Given the description of an element on the screen output the (x, y) to click on. 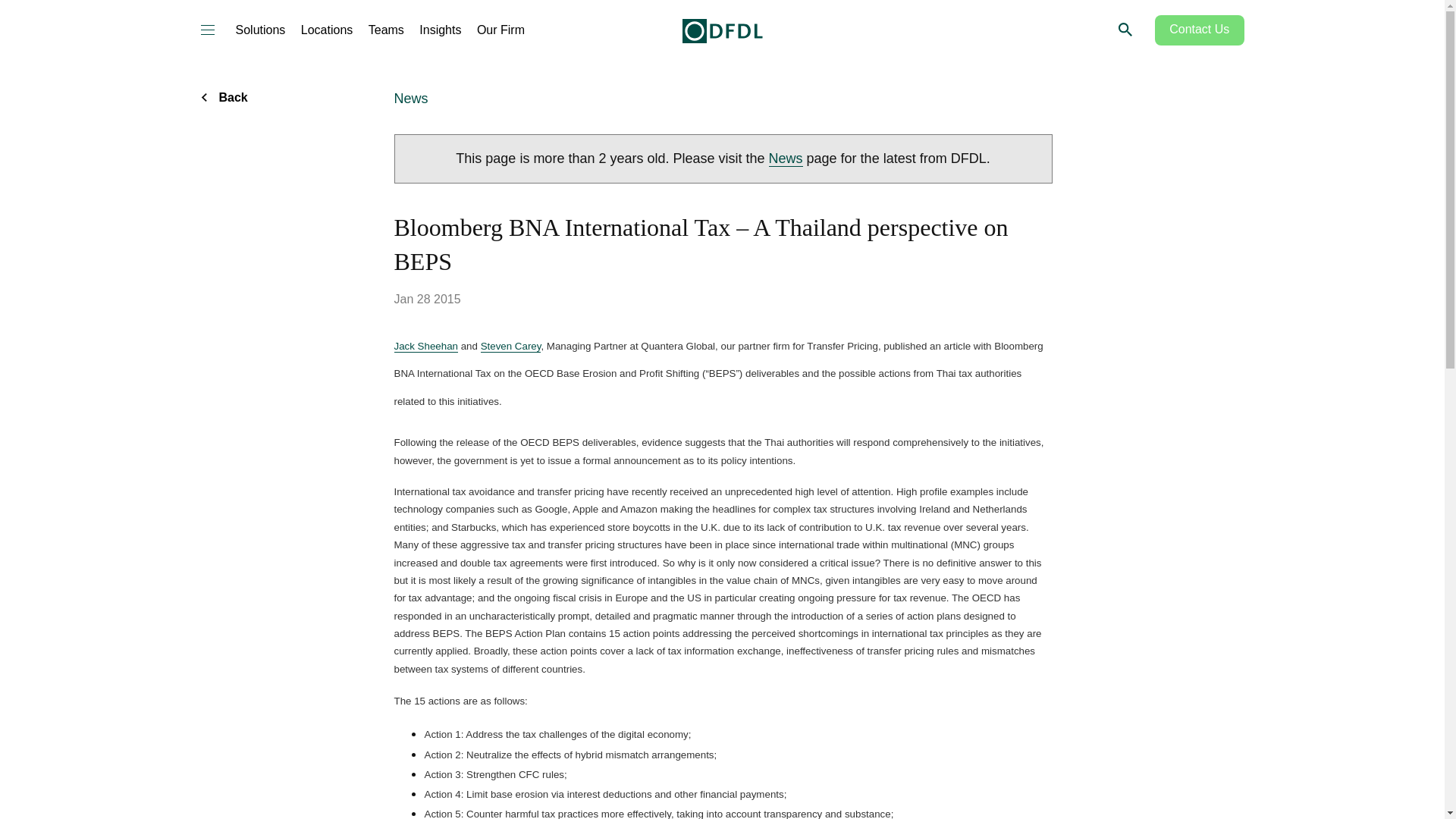
Steven Carey (510, 346)
Teams (386, 29)
Jack Sheehan (426, 346)
Back (231, 97)
News (785, 158)
Contact Us (1199, 30)
Search (1124, 29)
Insights (440, 29)
Our Firm (500, 29)
Solutions (259, 29)
